Given the description of an element on the screen output the (x, y) to click on. 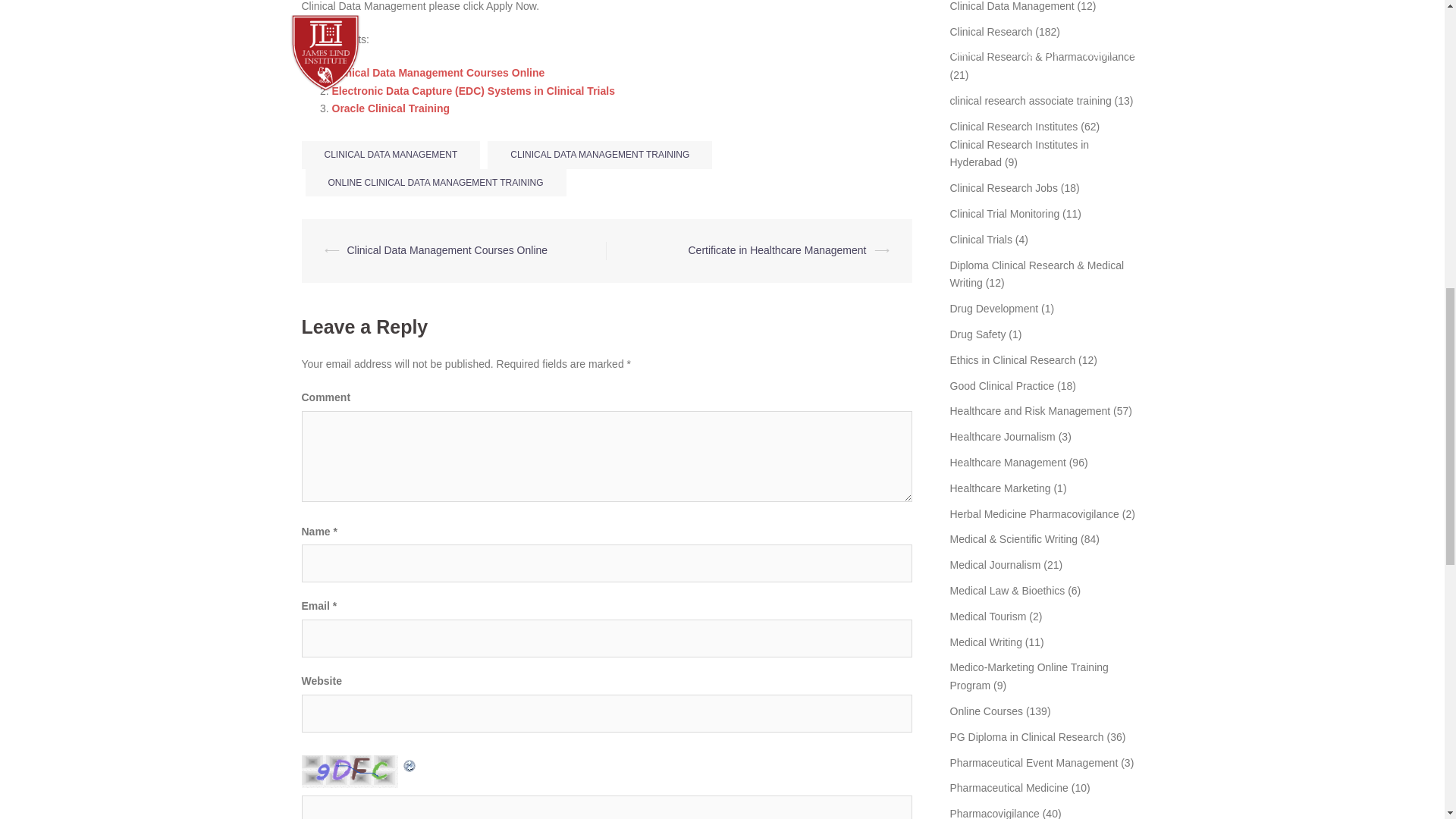
Oracle Clinical Training (390, 108)
Oracle Clinical Training (390, 108)
CLINICAL DATA MANAGEMENT (390, 154)
Clinical Research Institutes (1013, 126)
Clinical Research (990, 31)
Clinical Data Management Courses Online (437, 72)
This is a general category for clinical research (990, 31)
Clinical Research Institutes in Hyderabad (1019, 153)
Clinical Data Management Courses Online (437, 72)
CAPTCHA (351, 771)
